Given the description of an element on the screen output the (x, y) to click on. 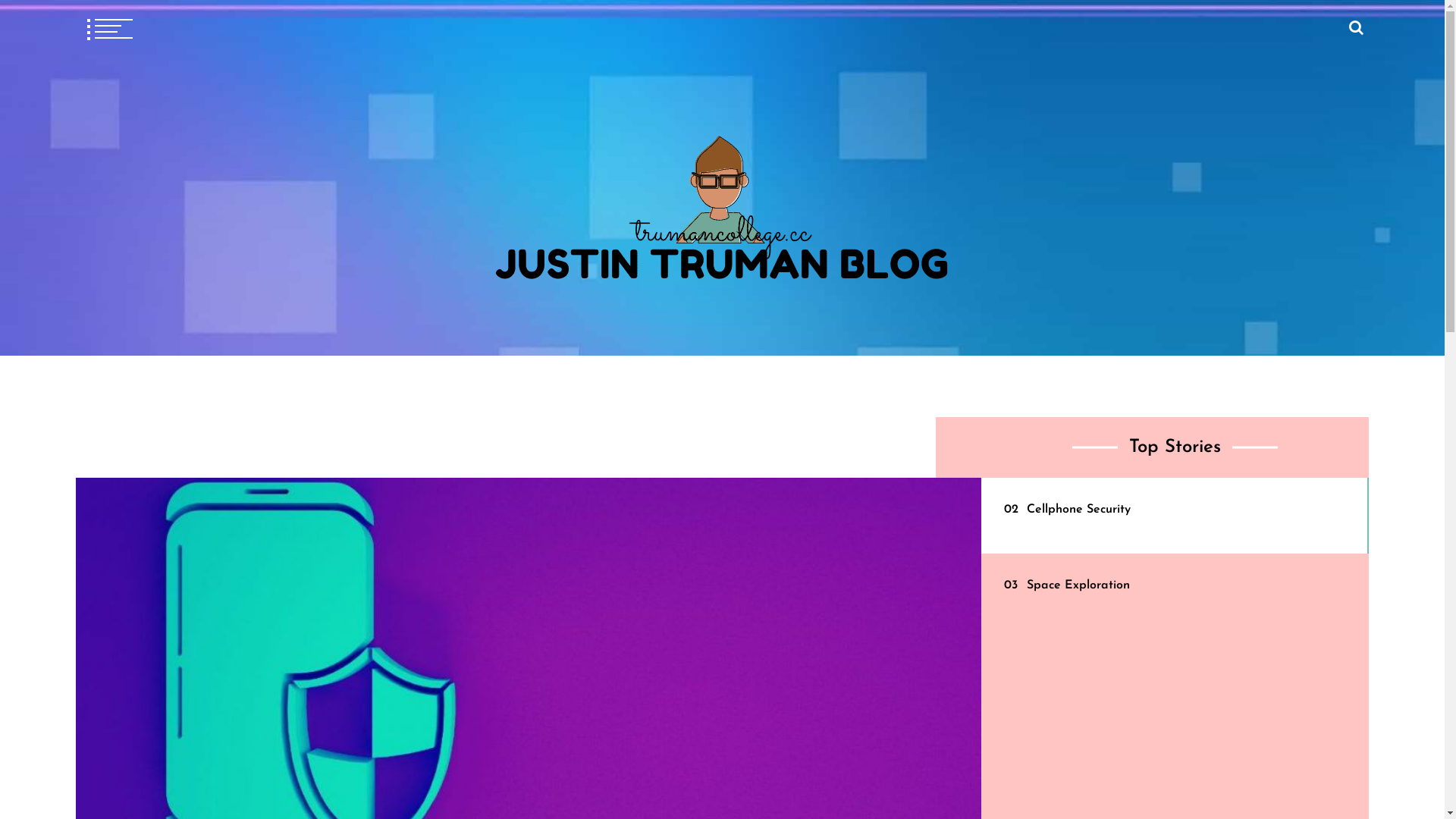
Justin Truman Blog Element type: text (294, 326)
